Given the description of an element on the screen output the (x, y) to click on. 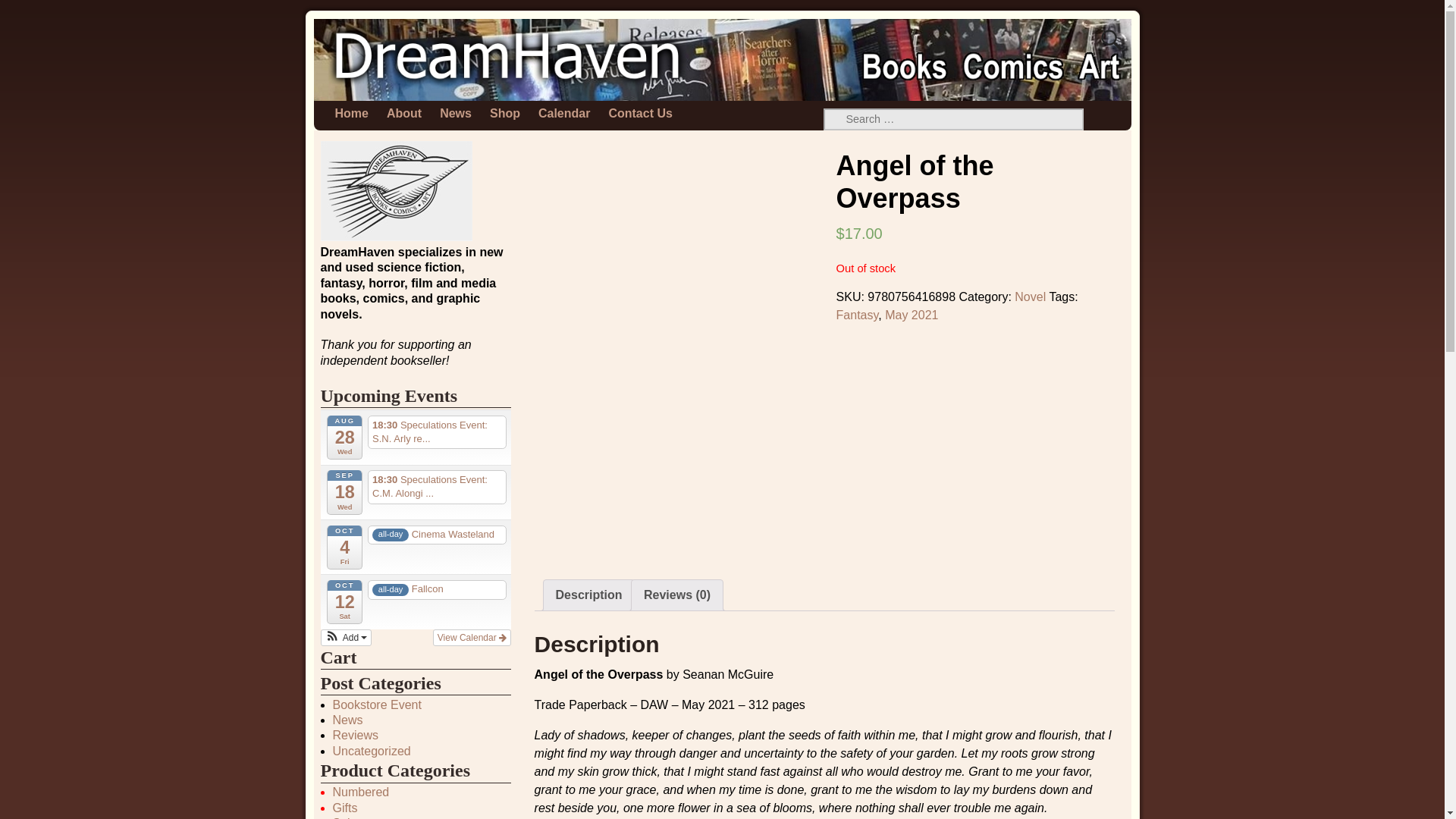
Contact Us (639, 113)
May 2021 (911, 314)
Calendar (563, 113)
18:30 Speculations Event: C.M. Alongi ... (437, 486)
Home (351, 113)
News (455, 113)
Search for: (954, 119)
Shop (504, 113)
Novel (1029, 296)
Fantasy (857, 314)
